Given the description of an element on the screen output the (x, y) to click on. 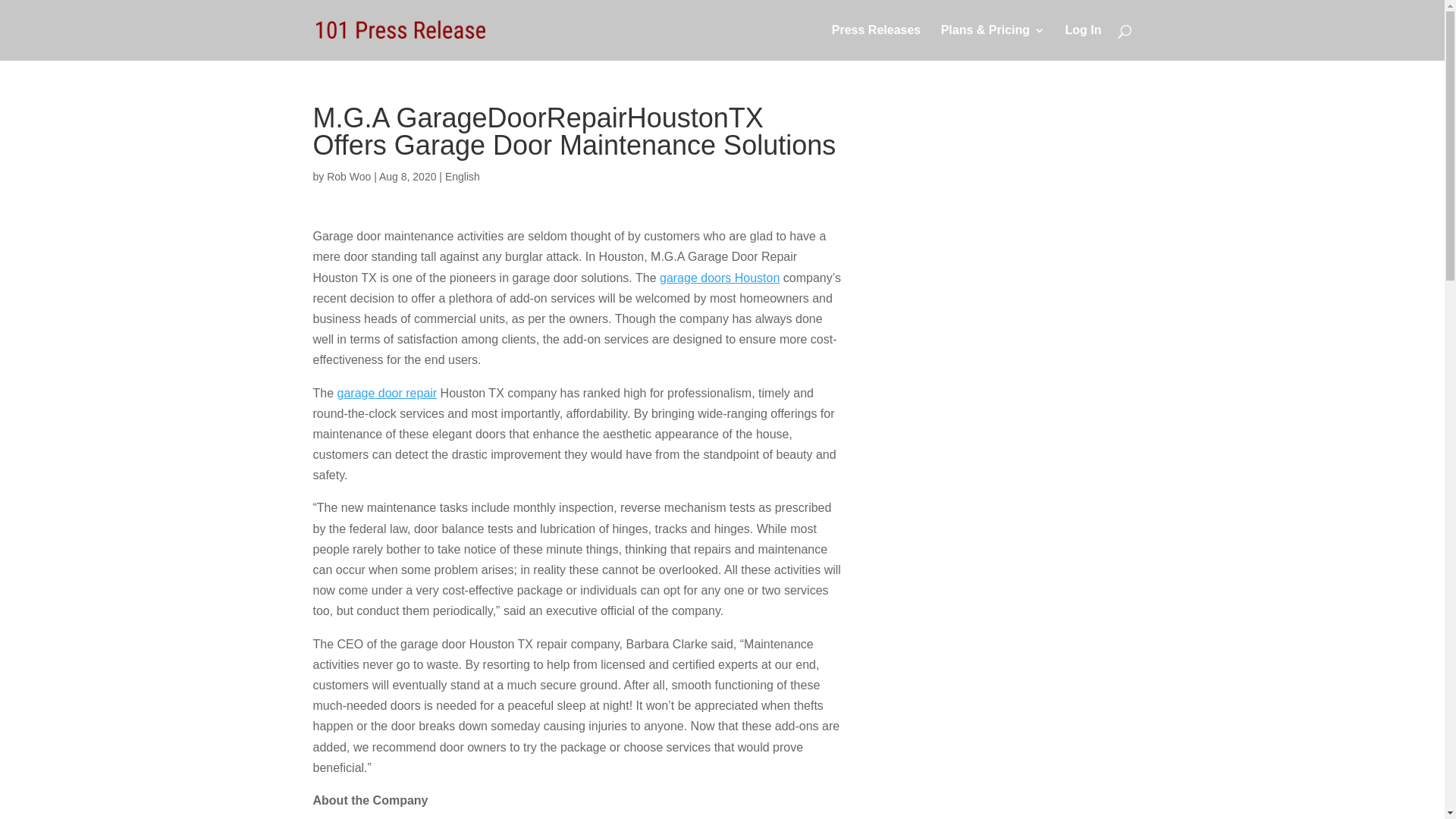
Advertisement Element type: hover (1013, 331)
Plans & Pricing Element type: text (992, 42)
English Element type: text (462, 176)
Rob Woo Element type: text (348, 176)
Press Releases Element type: text (875, 42)
garage door repair Element type: text (387, 392)
garage doors Houston Element type: text (719, 277)
Log In Element type: text (1083, 42)
